Given the description of an element on the screen output the (x, y) to click on. 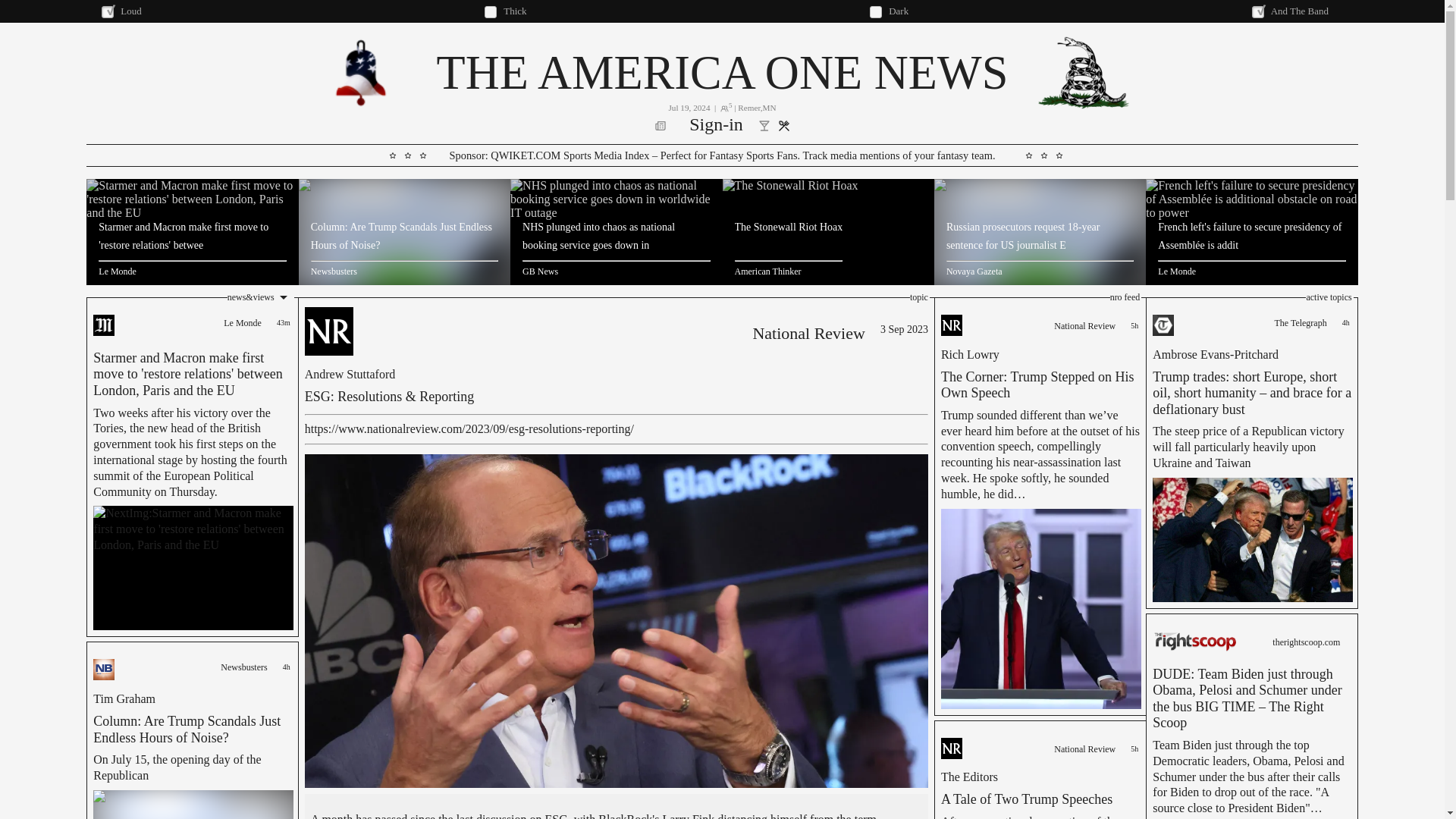
Sign-in (715, 125)
THE AMERICA ONE NEWS (720, 72)
National Review (807, 333)
QWIKET.COM (525, 154)
